Given the description of an element on the screen output the (x, y) to click on. 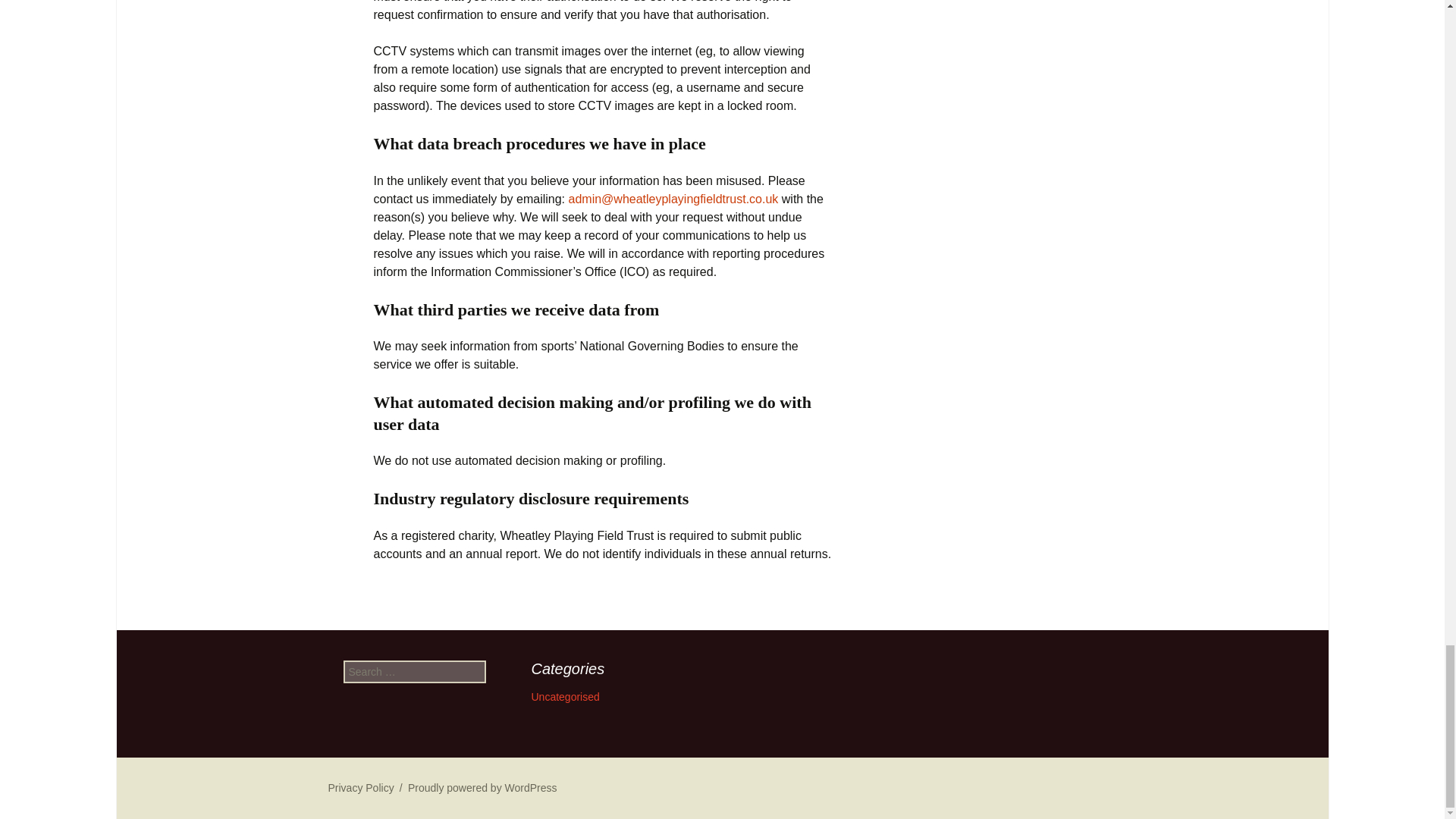
Uncategorised (564, 696)
Proudly powered by WordPress (482, 787)
Privacy Policy (360, 787)
